Given the description of an element on the screen output the (x, y) to click on. 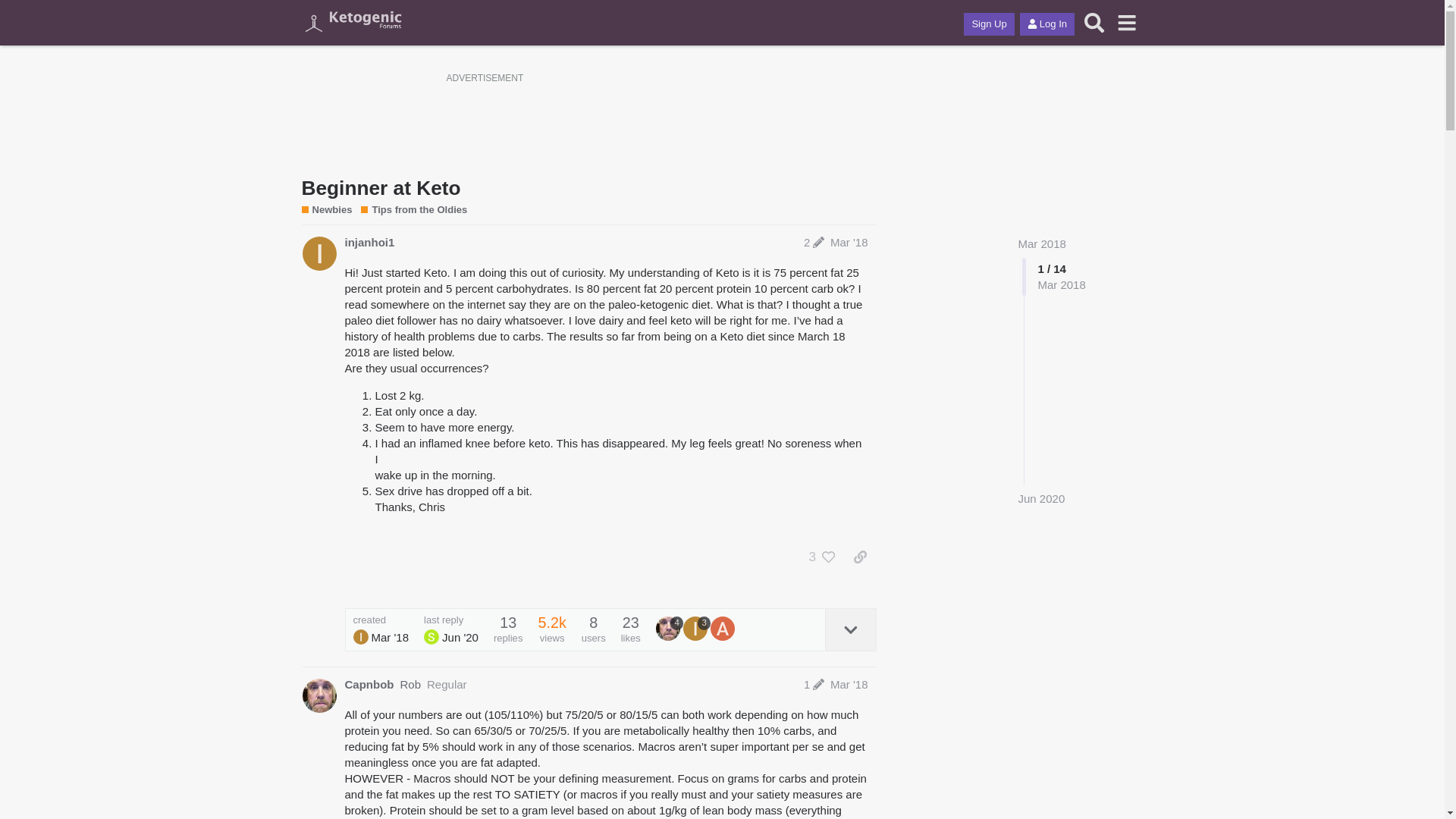
Injanhoi1 (360, 636)
Mar 25, 2018 1:31 pm (390, 636)
3rd party ad content (721, 121)
Mar 2018 (1041, 243)
post last edited on Mar 25, 2018 1:46 pm (814, 241)
Rob (411, 684)
Log In (1047, 23)
Beginner at Keto (381, 187)
search topics, posts, users, or categories (1094, 22)
2 (814, 241)
Mar '18 (848, 241)
Jun 2020 (1040, 498)
1 (814, 684)
go to another topic list or category (1126, 22)
